Given the description of an element on the screen output the (x, y) to click on. 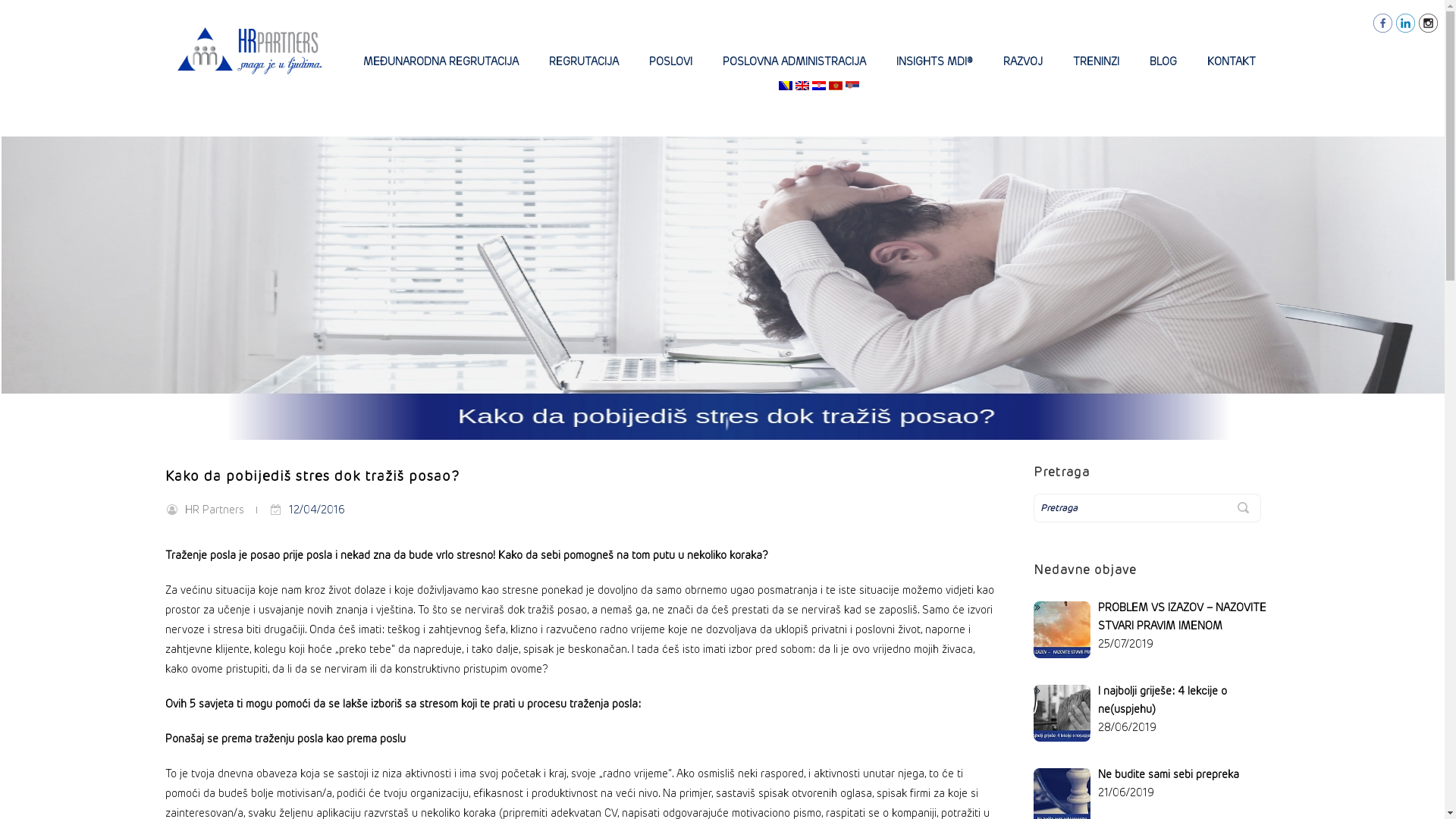
POSLOVNA ADMINISTRACIJA Element type: text (794, 61)
BLOG Element type: text (1163, 61)
LinkedIn Element type: hover (1405, 22)
RAZVOJ Element type: text (1022, 61)
KONTAKT Element type: text (1231, 61)
Facebook Element type: hover (1382, 22)
POSLOVI Element type: text (670, 61)
Ne budite sami sebi prepreka Element type: text (1168, 774)
HR Partners Element type: text (214, 509)
Instagram Element type: hover (1427, 22)
REGRUTACIJA Element type: text (583, 61)
TRENINZI Element type: text (1095, 61)
